Given the description of an element on the screen output the (x, y) to click on. 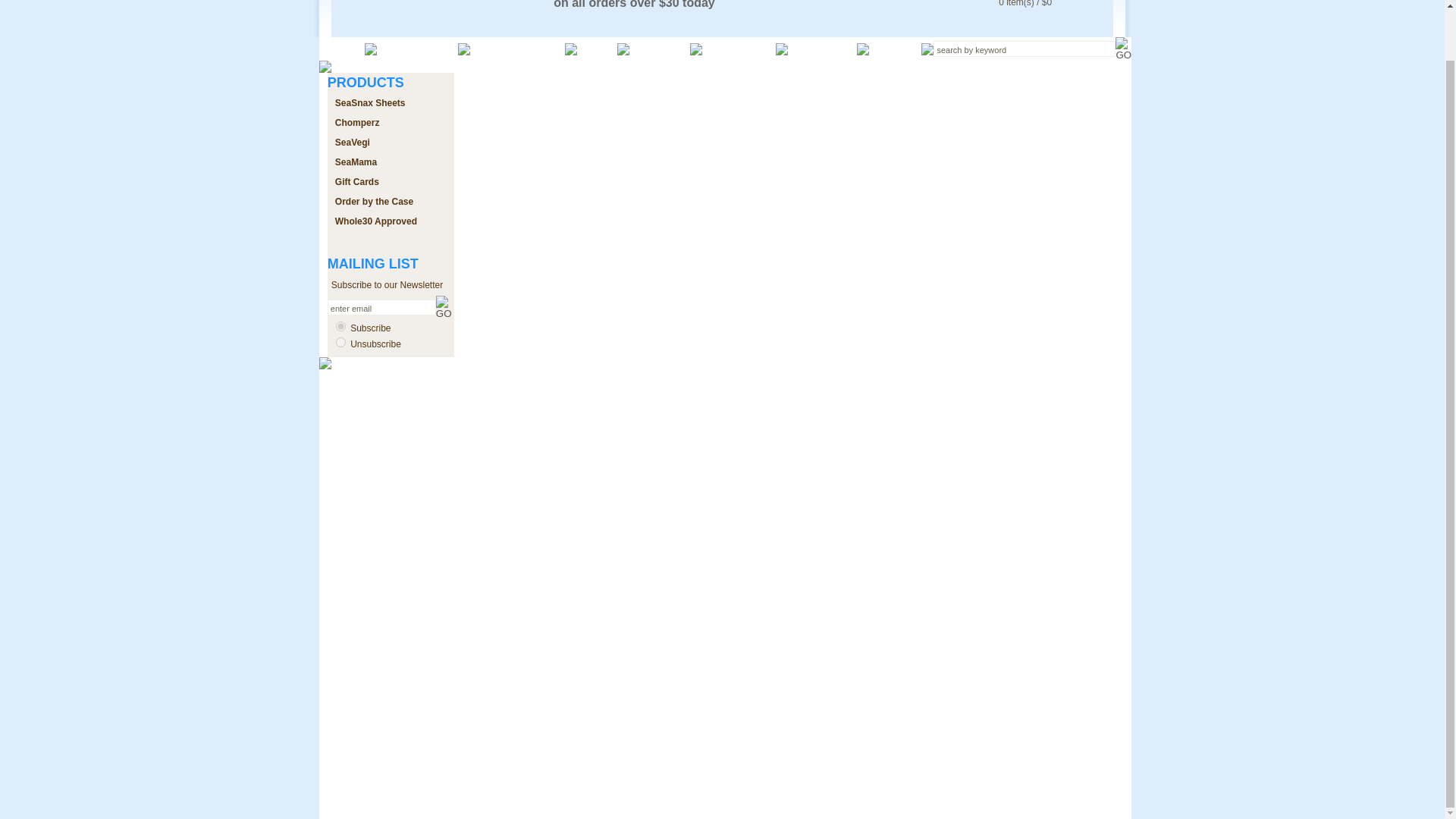
search by keyword (1024, 48)
1 (341, 326)
Contact Us (821, 48)
Where to Buy (416, 48)
0 (341, 342)
enter email (381, 307)
What People Say (517, 48)
SeaMama (355, 162)
Whole30 Approved (375, 221)
About Us (660, 48)
